Given the description of an element on the screen output the (x, y) to click on. 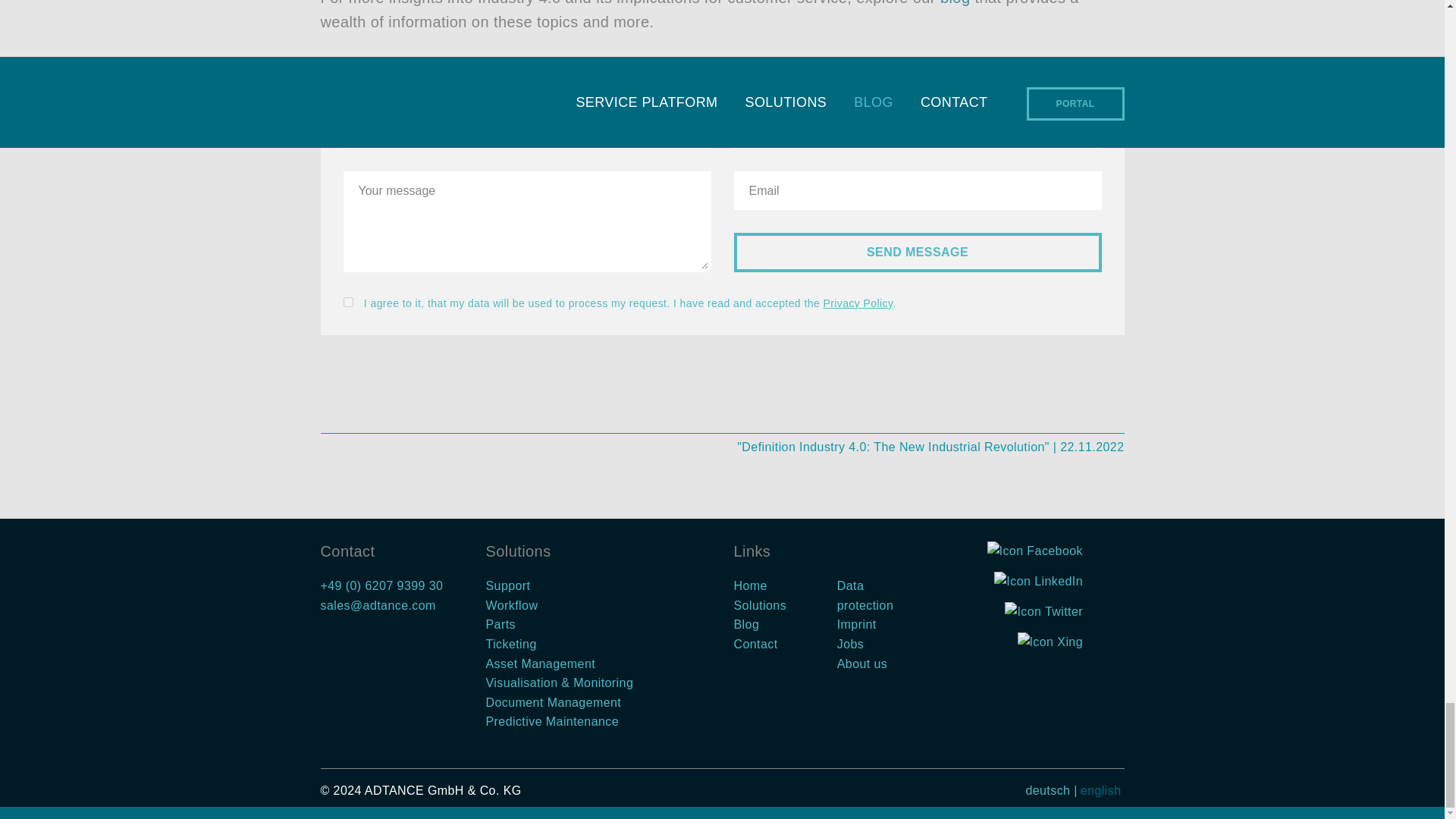
Icon Twitter (1043, 612)
Icon LinkedIn (1038, 582)
Icon Facebook (1035, 552)
Send message (917, 251)
blog (955, 2)
Icon Xing (1050, 643)
data-protection (347, 302)
